Given the description of an element on the screen output the (x, y) to click on. 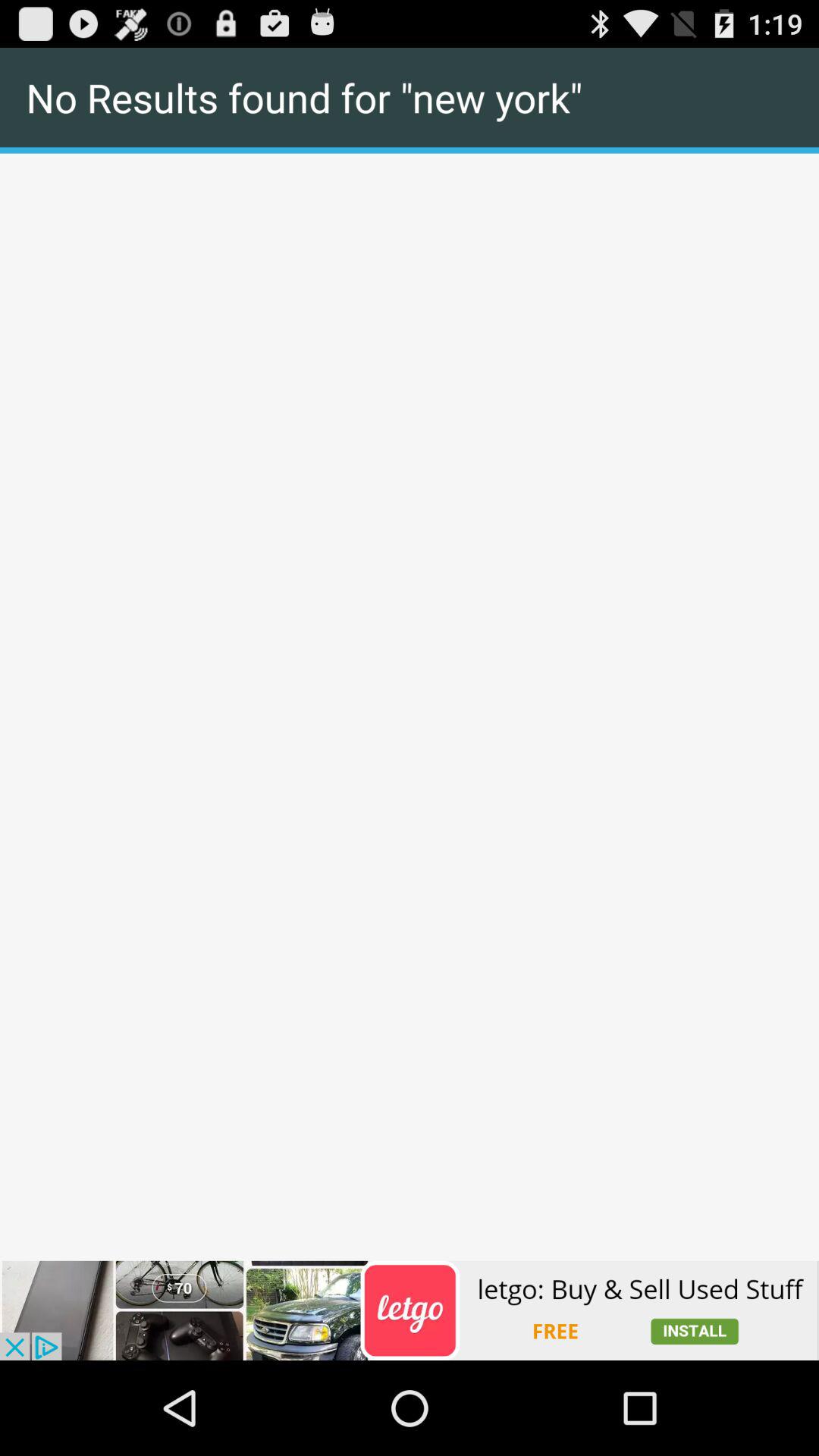
main image screen (409, 154)
